Given the description of an element on the screen output the (x, y) to click on. 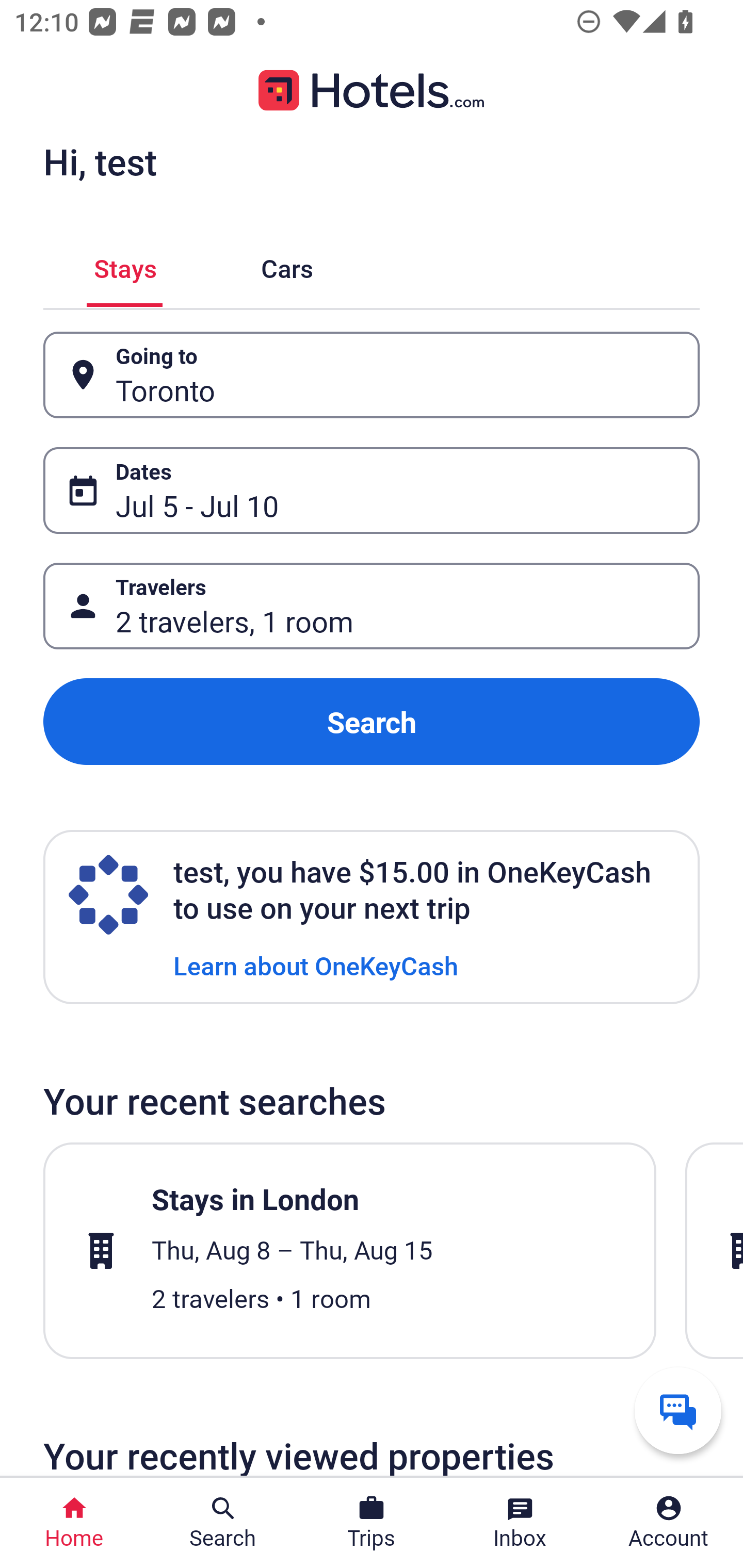
Hi, test (99, 161)
Cars (286, 265)
Going to Button Toronto (371, 375)
Dates Button Jul 5 - Jul 10 (371, 489)
Travelers Button 2 travelers, 1 room (371, 605)
Search (371, 721)
Learn about OneKeyCash Learn about OneKeyCash Link (315, 964)
Get help from a virtual agent (677, 1410)
Search Search Button (222, 1522)
Trips Trips Button (371, 1522)
Inbox Inbox Button (519, 1522)
Account Profile. Button (668, 1522)
